Given the description of an element on the screen output the (x, y) to click on. 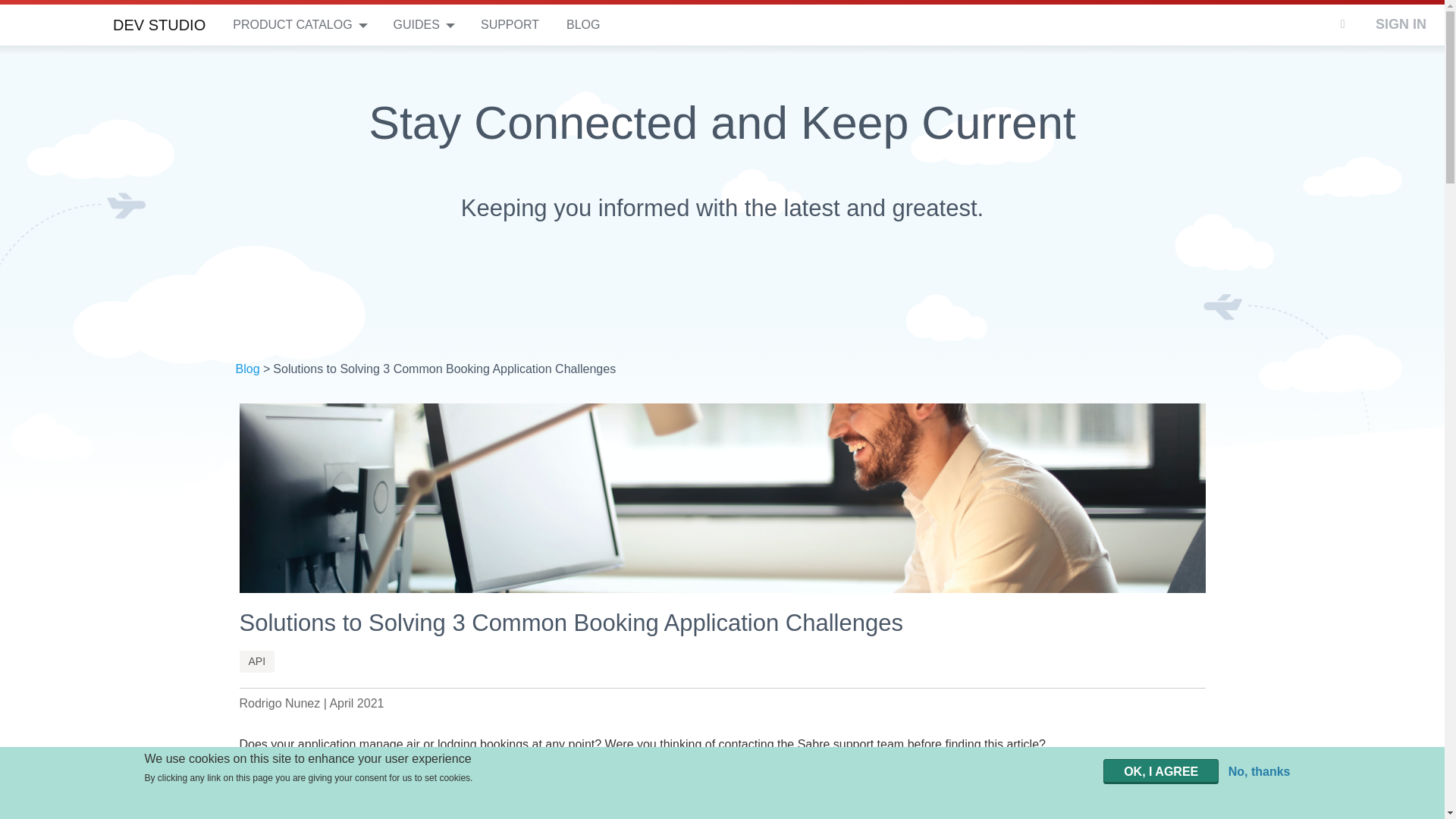
GUIDES (416, 22)
Sabre (49, 22)
DEV STUDIO (159, 22)
BLOG (582, 22)
SUPPORT (510, 22)
PRODUCT CATALOG (292, 22)
